Given the description of an element on the screen output the (x, y) to click on. 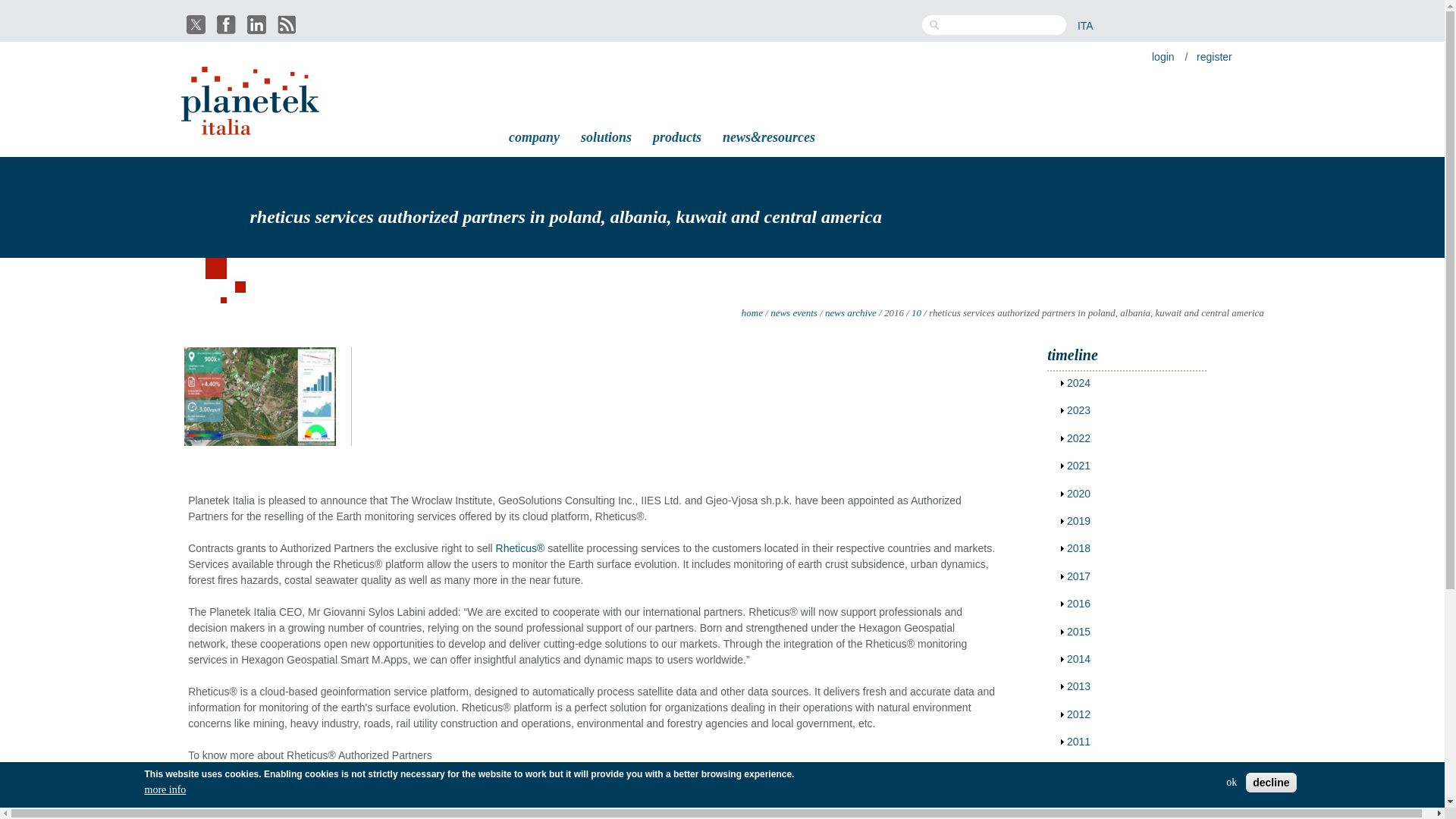
Planetek Italia RSS feed (288, 24)
company (534, 135)
Enter the terms you wish to search for. (1002, 25)
Home page (251, 126)
Find Planetek Italia on Twitter (197, 24)
Planetek Italia RSS feed (288, 30)
solutions (606, 135)
Find Planetek Italia on Twitter (197, 30)
register (1213, 56)
ITA (1085, 25)
login (1162, 56)
Find Planetek Italia on LinkedIn (258, 24)
Find Planetek Italia on LinkedIn (258, 30)
Find Planetek Italia on Facebook (228, 24)
